Given the description of an element on the screen output the (x, y) to click on. 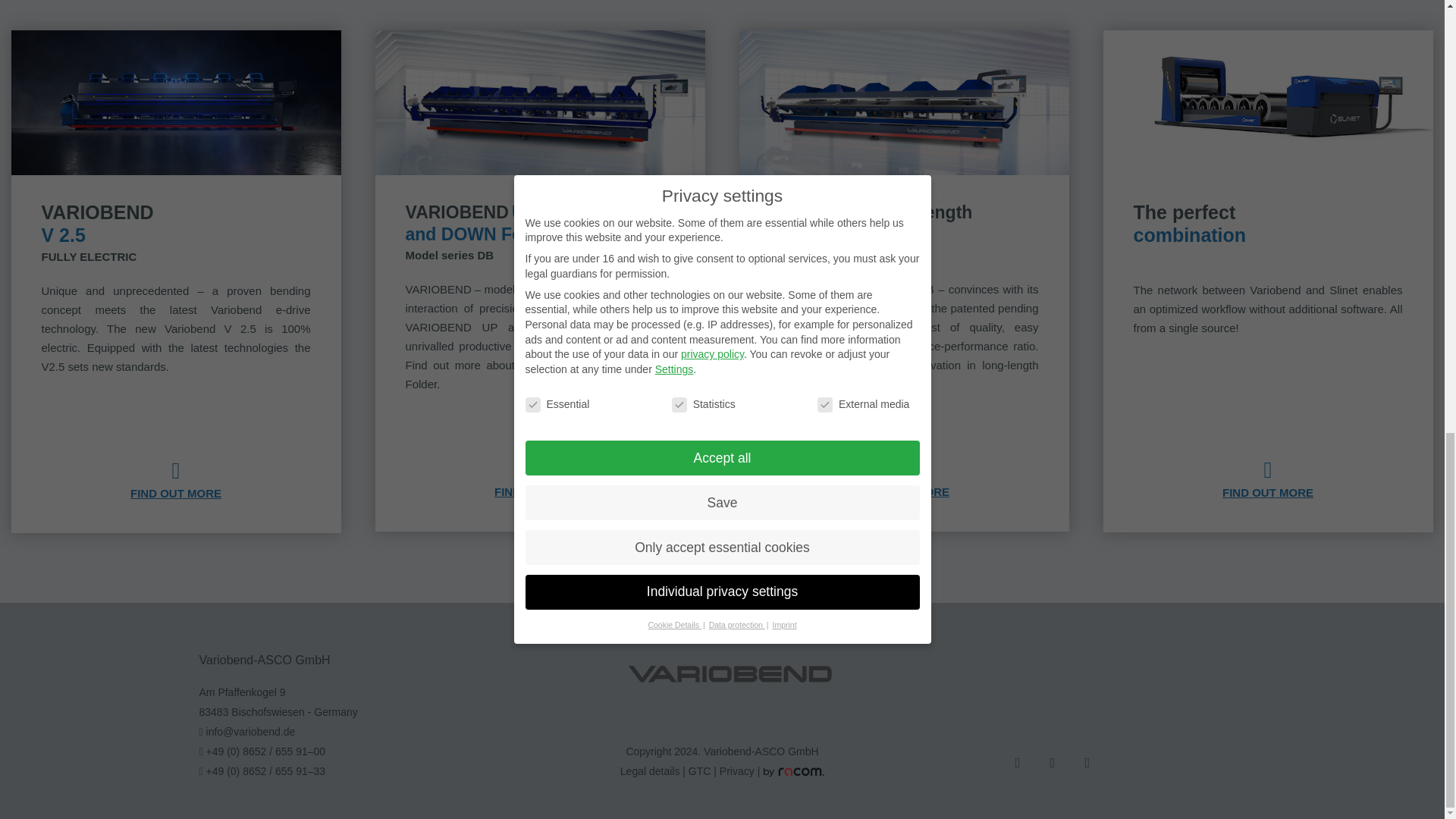
Variobend V2.5 (175, 471)
Variobend V2.5 (176, 492)
Variobend V 2.5 (175, 102)
